Given the description of an element on the screen output the (x, y) to click on. 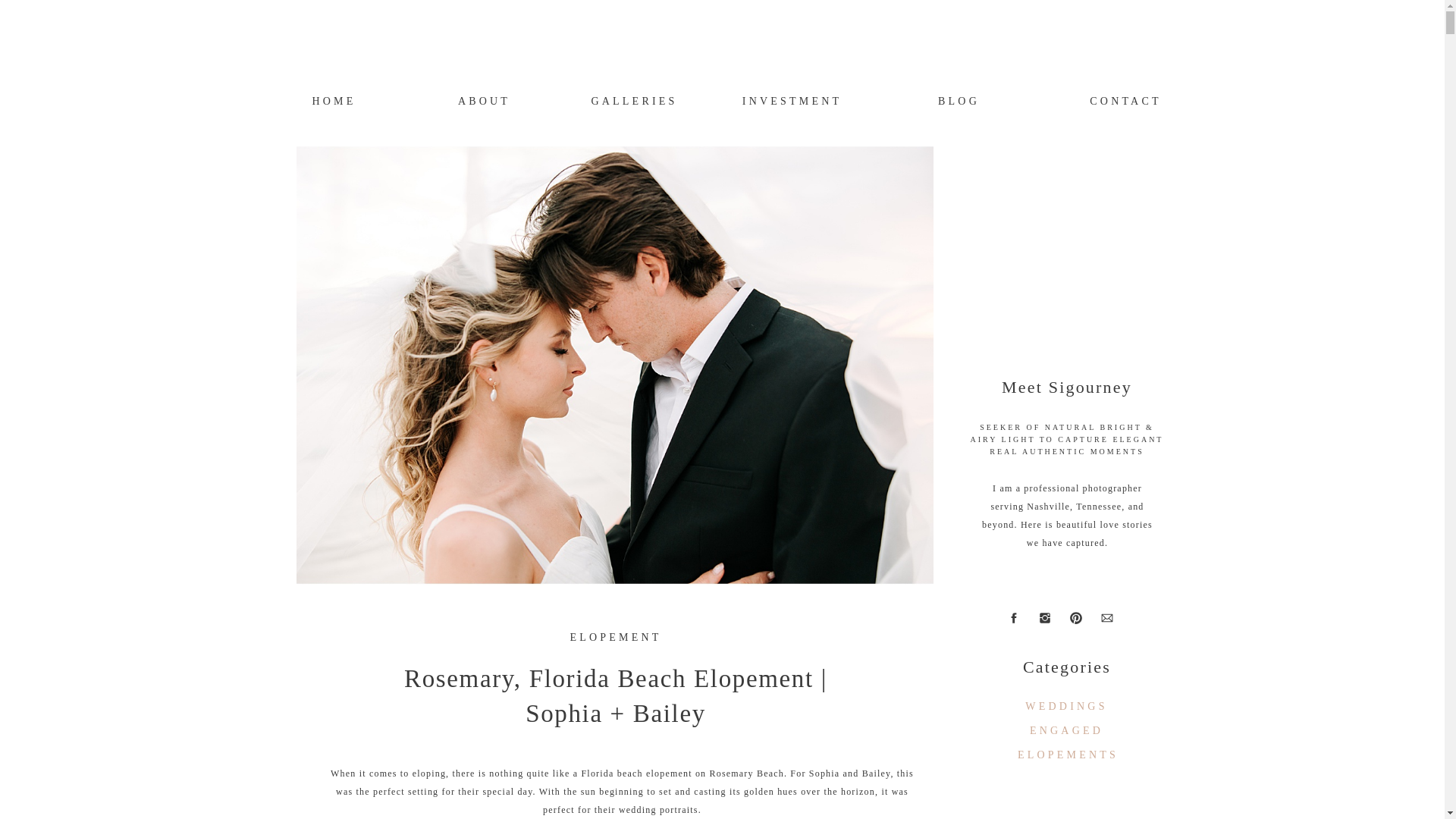
CONTACT (1125, 100)
WEDDINGS (1066, 706)
ENGAGED (1066, 730)
HOME (334, 100)
GALLERIES (634, 100)
INVESTMENT (791, 100)
BLOG (958, 100)
ABOUT (484, 100)
ELOPEMENT (615, 636)
ELOPEMENTS (1068, 754)
